Given the description of an element on the screen output the (x, y) to click on. 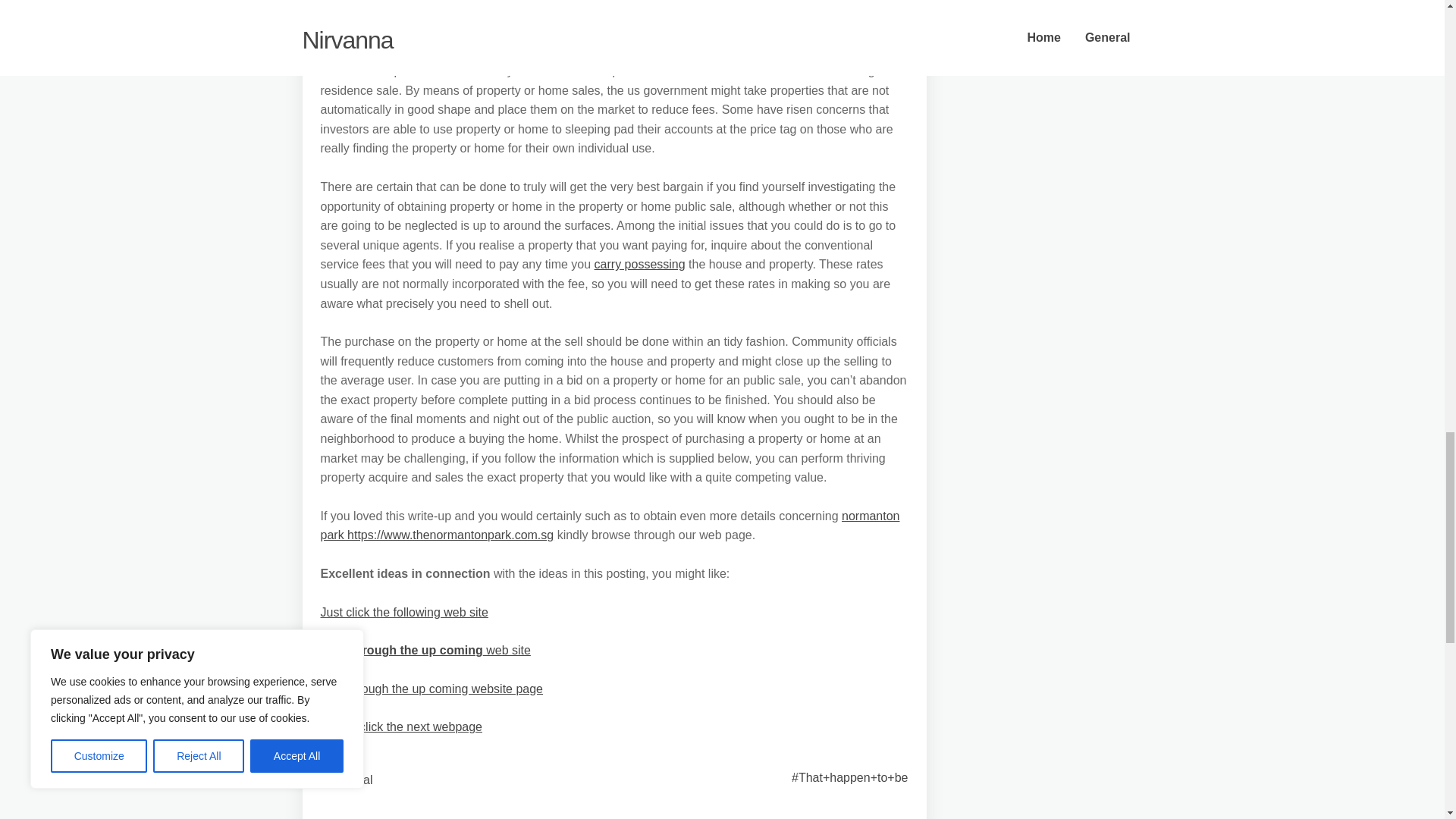
Just click the following web site (403, 612)
click through the up coming website page (431, 688)
click through the up coming web site (424, 649)
carry possessing (639, 264)
please click the next webpage (400, 726)
General (351, 779)
